Given the description of an element on the screen output the (x, y) to click on. 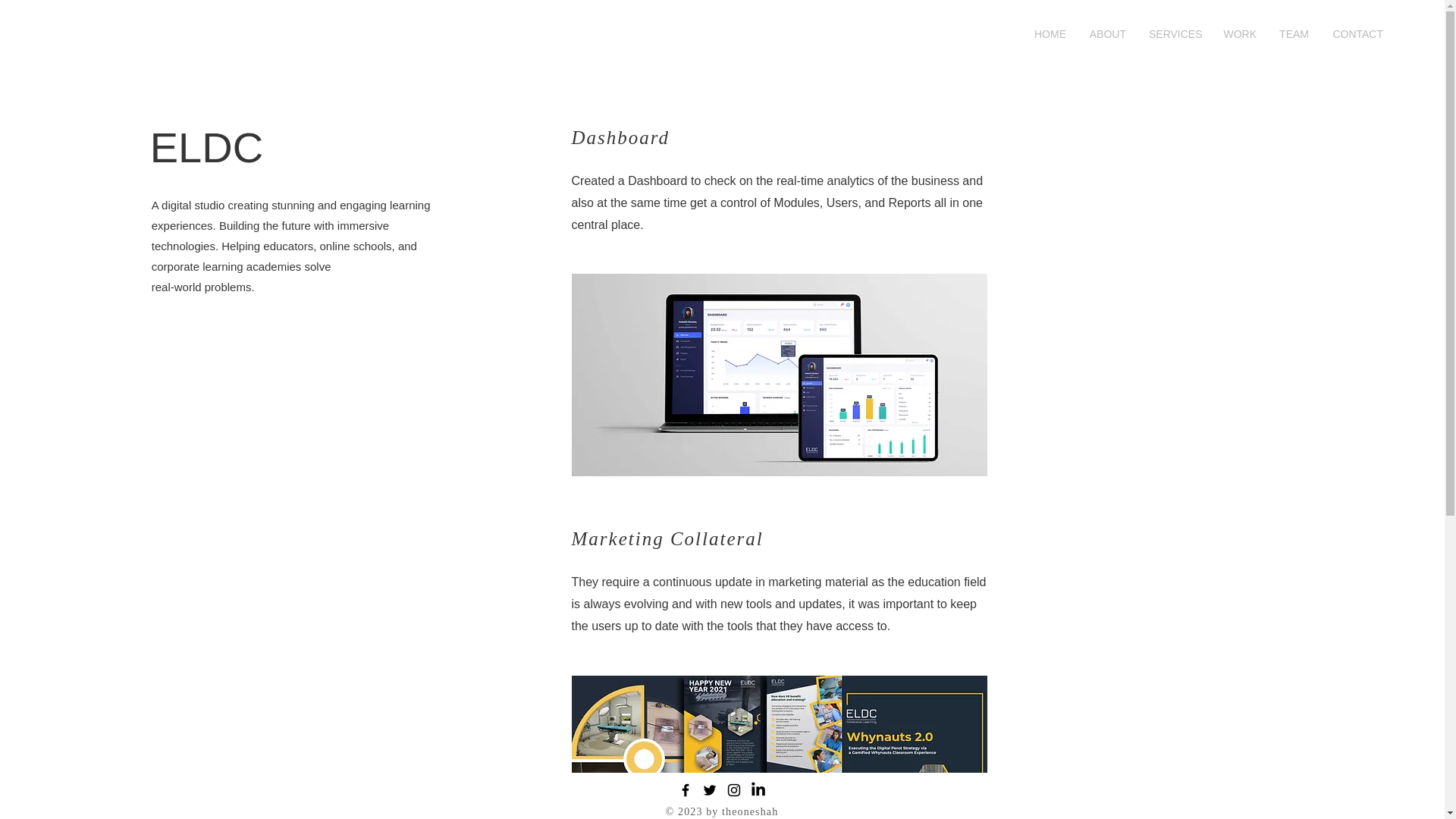
CONTACT (1357, 34)
SERVICES (1174, 34)
TEAM (1294, 34)
ABOUT (1107, 34)
HOME (1050, 34)
WORK (1239, 34)
